Given the description of an element on the screen output the (x, y) to click on. 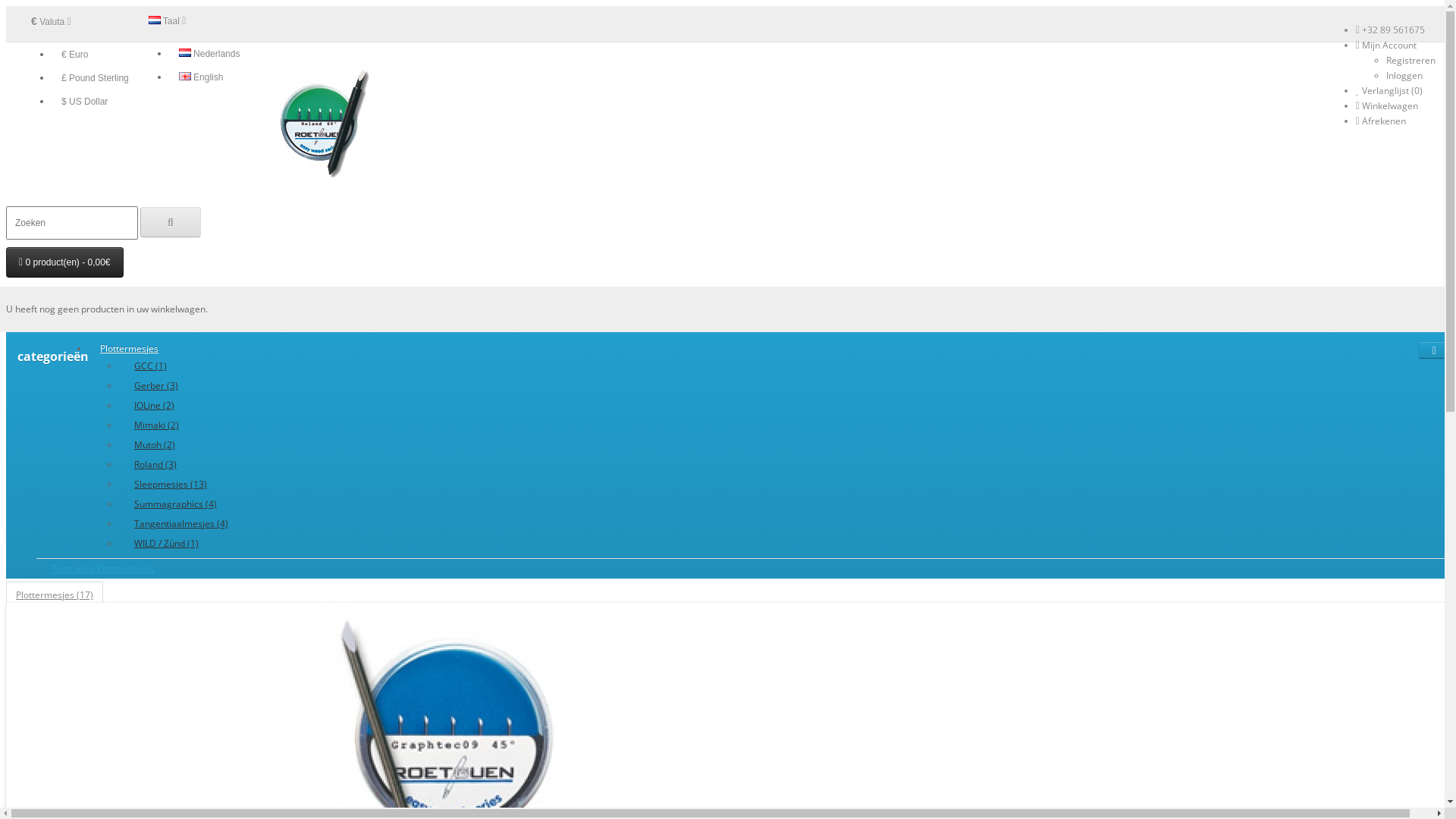
Toon alles Plottermesjes Element type: text (743, 568)
Winkelwagen Element type: text (1386, 105)
Gerber (3) Element type: text (194, 385)
Nederlands Element type: hover (154, 19)
Roland (3) Element type: text (194, 464)
Plottermesjes (17) Element type: text (54, 594)
Mimaki (2) Element type: text (194, 425)
Sleepmesjes (13) Element type: text (194, 484)
Registreren Element type: text (1410, 59)
IOLine (2) Element type: text (194, 405)
Summagraphics (4) Element type: text (194, 504)
Mutoh (2) Element type: text (194, 445)
Verlanglijst (0) Element type: text (1388, 90)
Nederlands Element type: text (209, 53)
English Element type: text (201, 76)
Plottermesjes Element type: text (128, 348)
GCC (1) Element type: text (194, 366)
Nederlands Element type: hover (184, 52)
Mijn Account Element type: text (1385, 44)
Plottermesjes Element type: hover (317, 125)
Afrekenen Element type: text (1380, 120)
Inloggen Element type: text (1404, 75)
Tangentiaalmesjes (4) Element type: text (194, 523)
$ US Dollar Element type: text (84, 100)
Taal  Element type: text (167, 20)
English Element type: hover (184, 75)
